Given the description of an element on the screen output the (x, y) to click on. 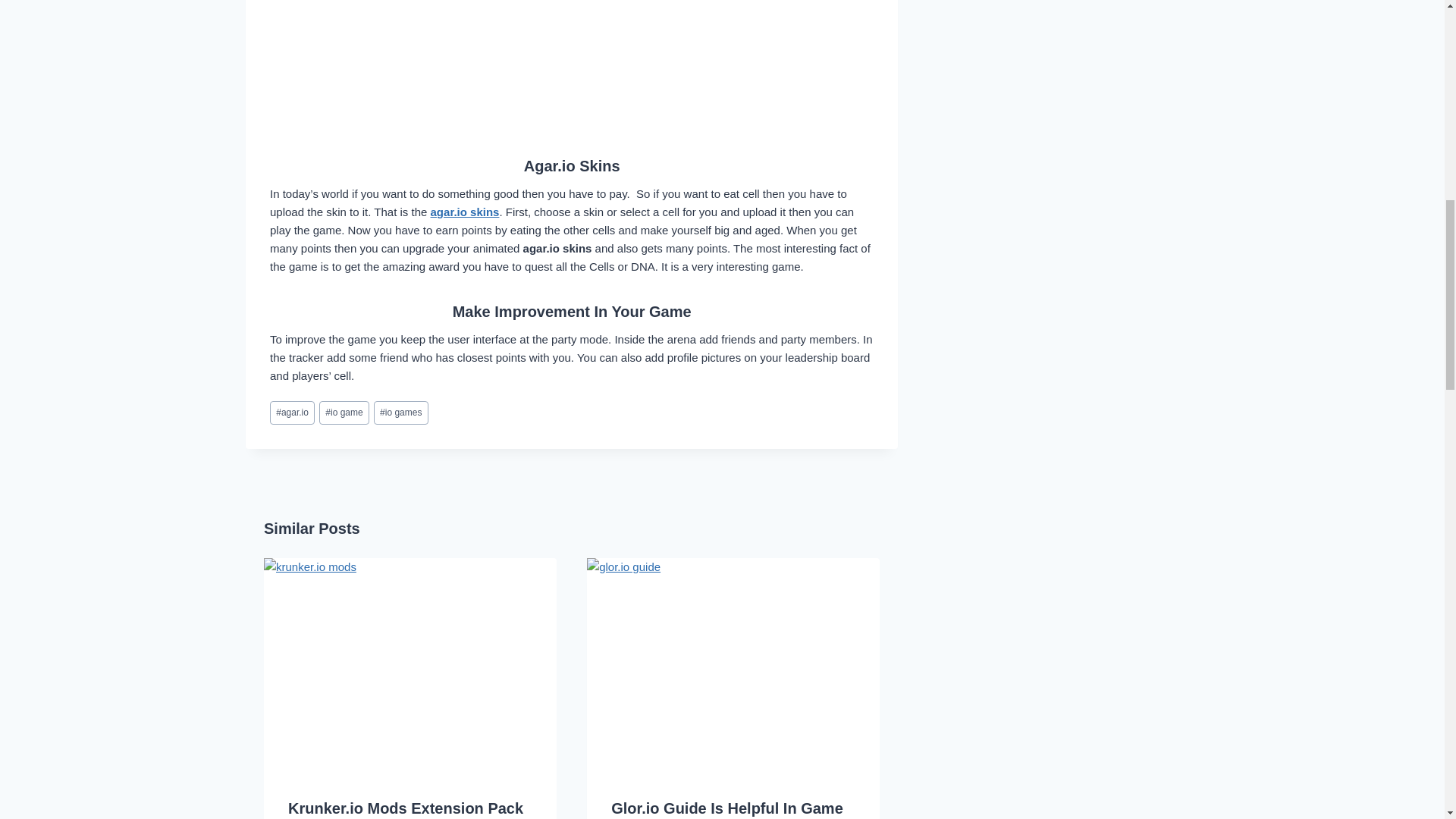
io game (343, 413)
agar.io skins (464, 211)
io games (401, 413)
agar.io (291, 413)
